Given the description of an element on the screen output the (x, y) to click on. 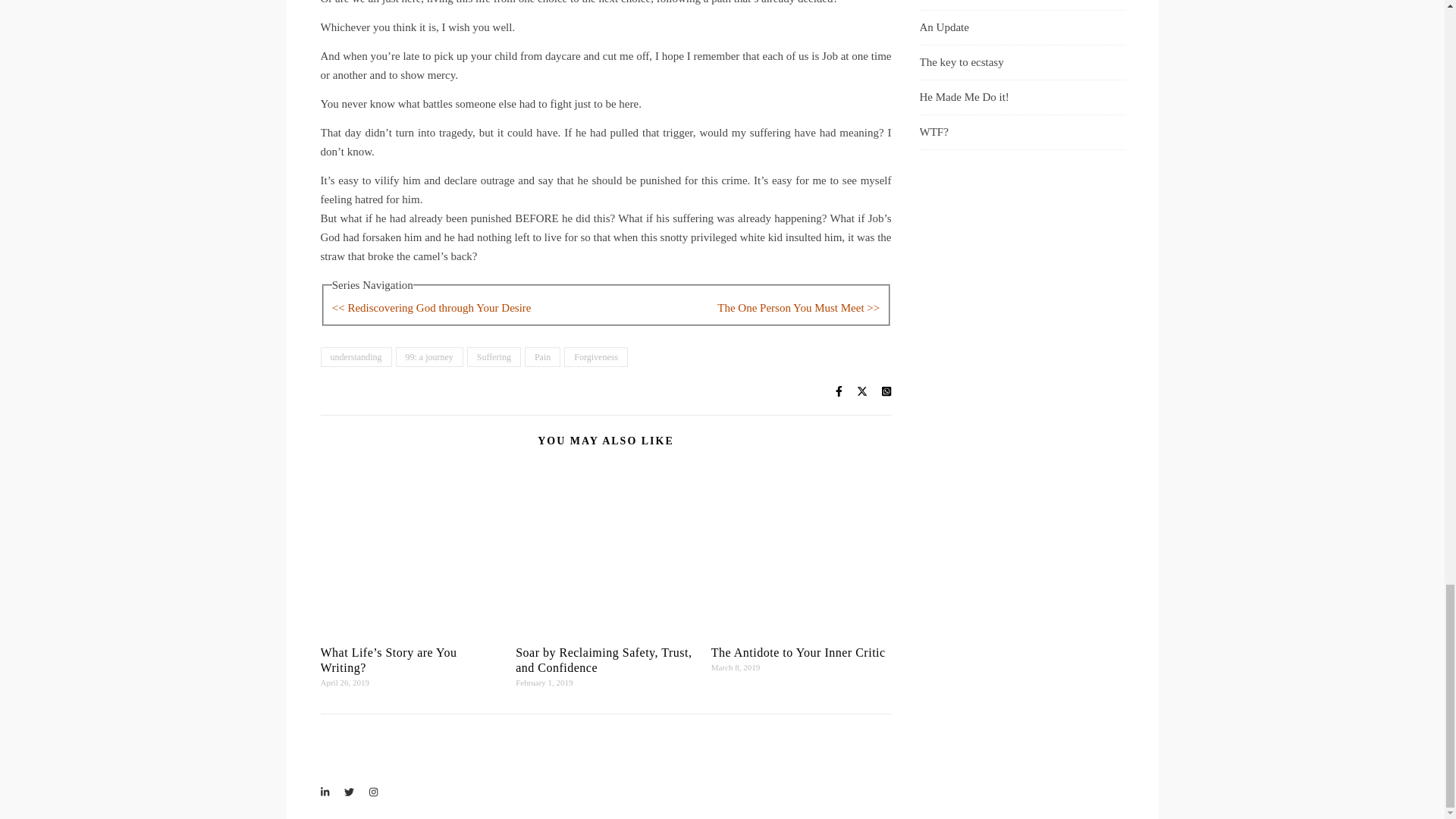
99: a journey (429, 356)
Suffering (494, 356)
Pain (542, 356)
understanding (355, 356)
